Given the description of an element on the screen output the (x, y) to click on. 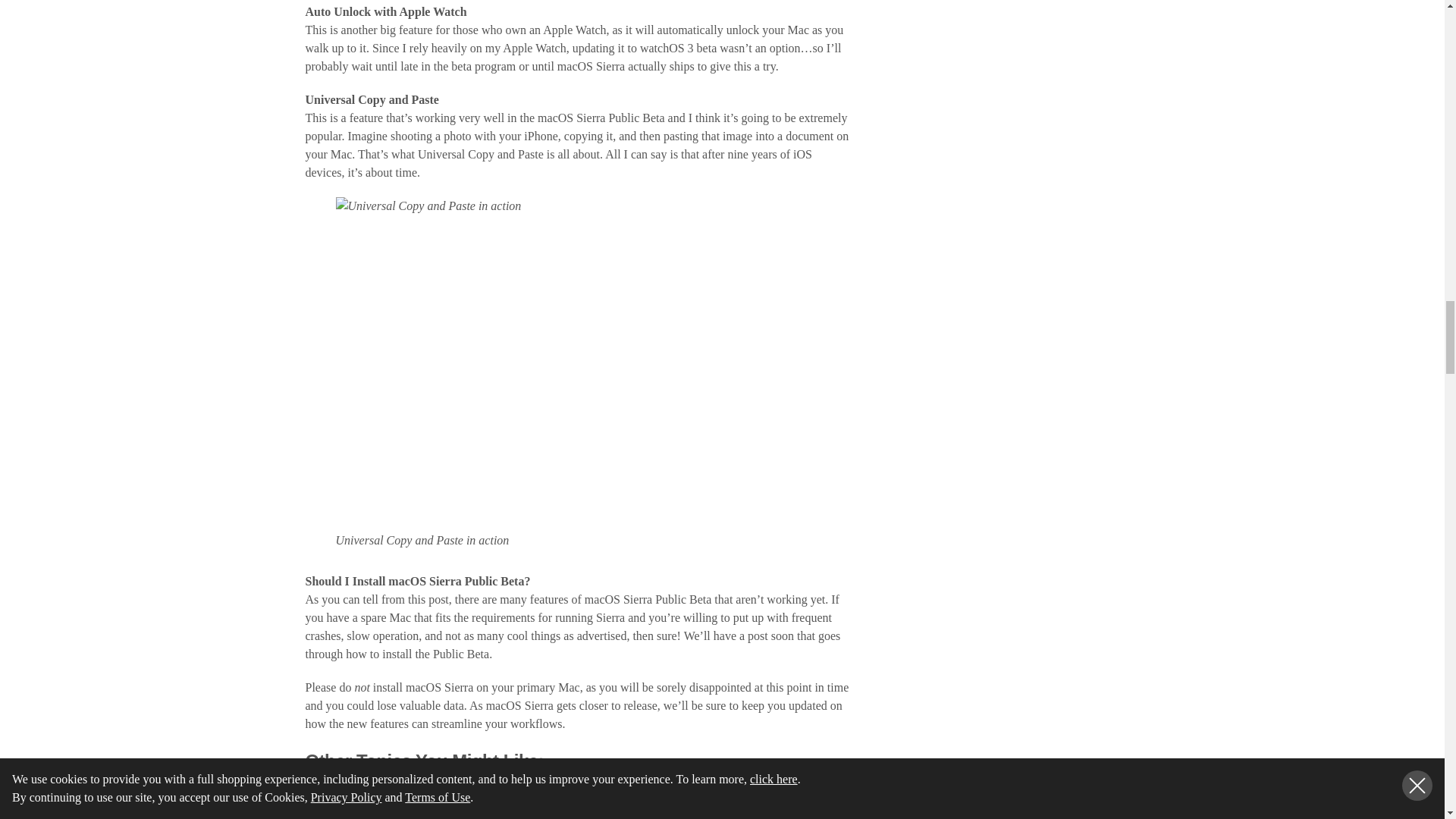
The Best New Features of watchOS 6 (539, 800)
macOS Sierra Preview: Using Siri on the Mac (697, 800)
How to Use the QuickPath Keyboard in iOS 13 and iPadOS 13 (380, 800)
